Given the description of an element on the screen output the (x, y) to click on. 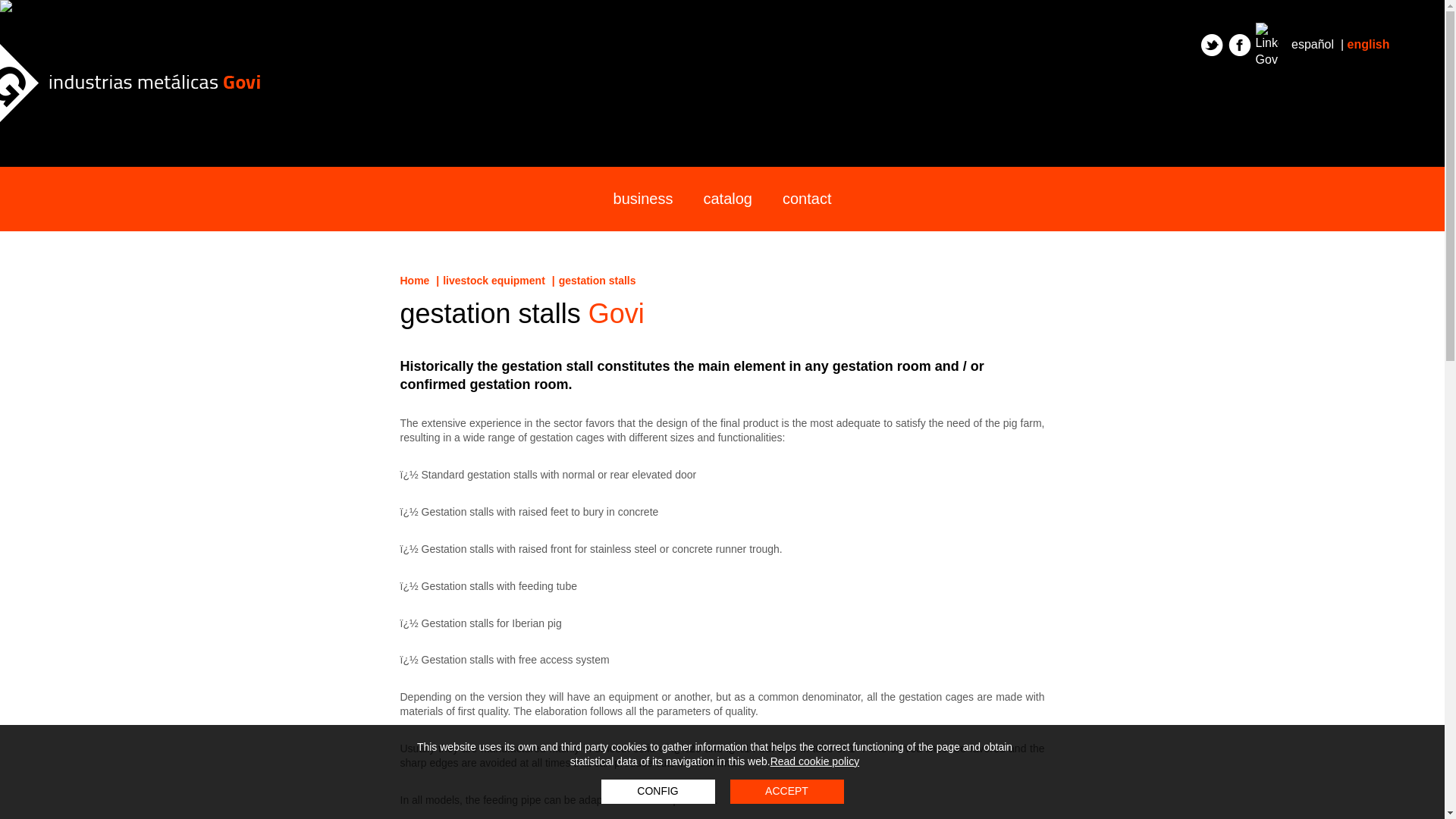
business (643, 198)
catalog (727, 198)
Twitter Govi (1212, 45)
catalog (727, 198)
busines (643, 198)
livestock equipment (493, 280)
Facebook Govi (1239, 45)
Linkedin Govi (1266, 33)
contact (806, 198)
Home (414, 280)
